Given the description of an element on the screen output the (x, y) to click on. 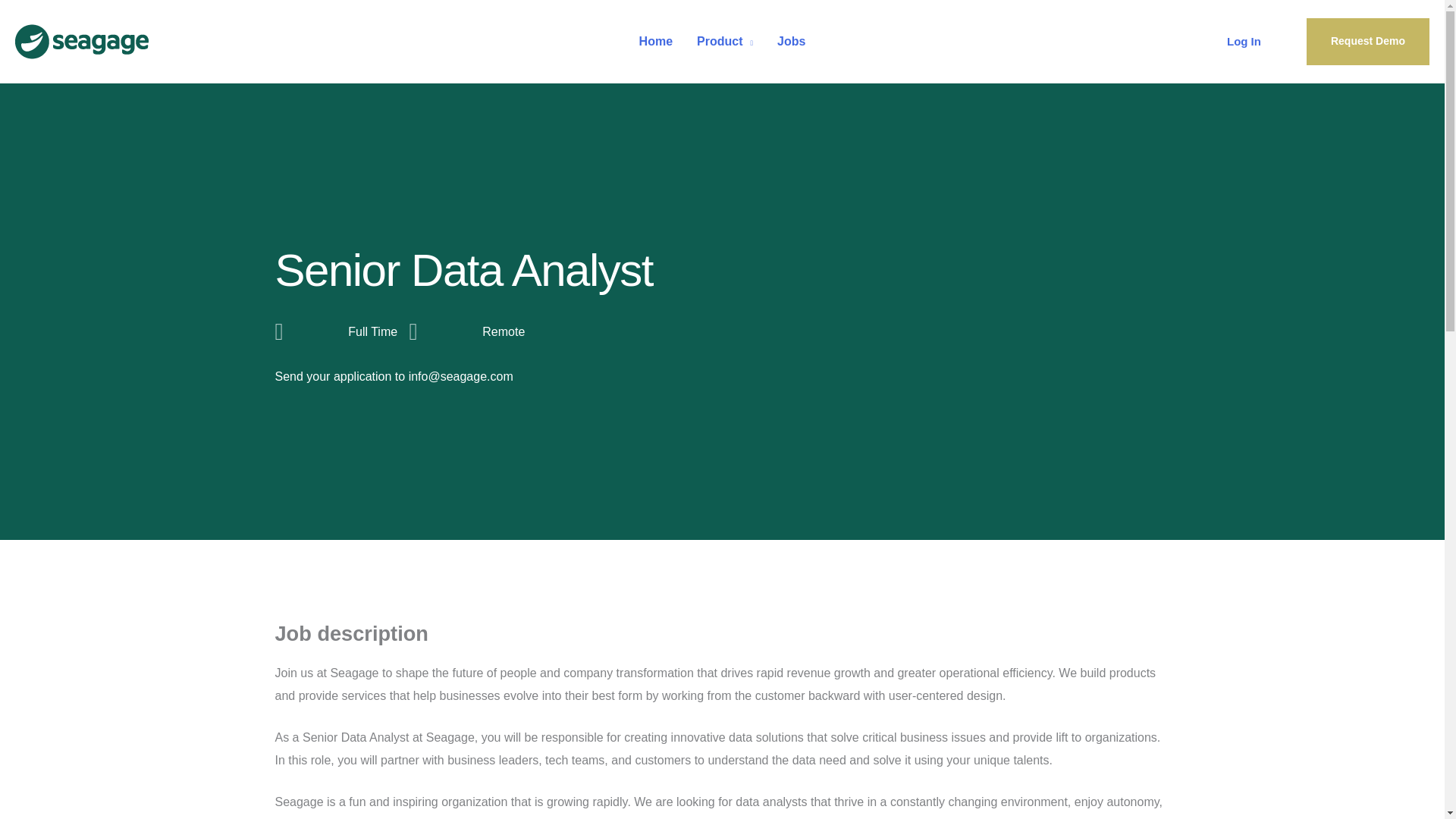
Request Demo (1367, 41)
Jobs (790, 41)
Home (655, 41)
Product (724, 41)
Log In (1243, 41)
